Given the description of an element on the screen output the (x, y) to click on. 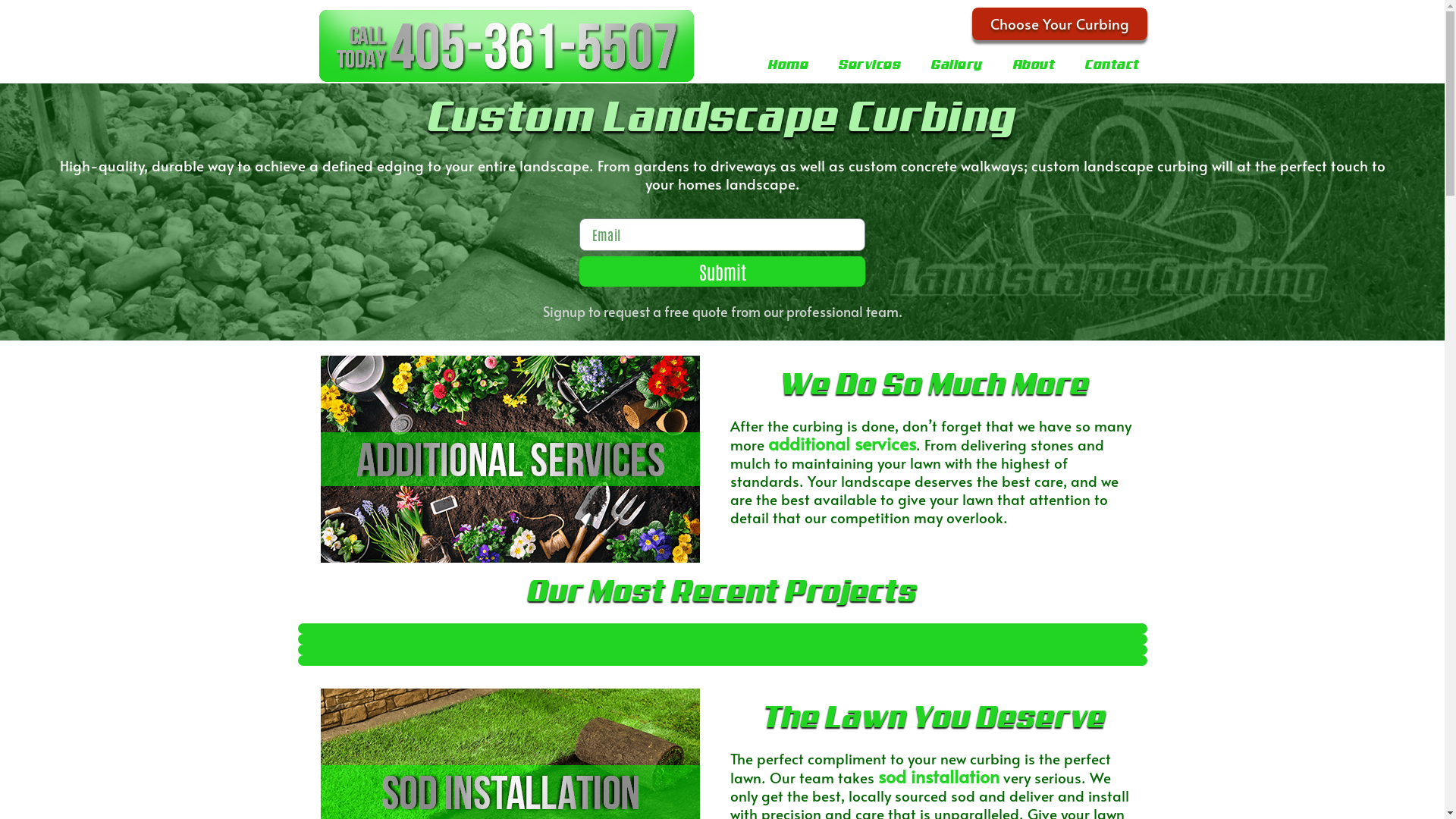
Gallery Element type: text (956, 64)
Single Brick Element type: text (721, 649)
additional-services Element type: hover (509, 458)
Slate Tile Element type: text (721, 638)
call-today-405-361-5507 Element type: hover (506, 45)
Contact Element type: text (1112, 64)
Choose Your Curbing Element type: text (1059, 23)
Services Element type: text (869, 64)
Submit Element type: text (722, 271)
About Element type: text (1033, 64)
Marrakesh Marble Element type: text (721, 660)
Marrakesh Marble Element type: text (721, 628)
Home Element type: text (788, 64)
